Given the description of an element on the screen output the (x, y) to click on. 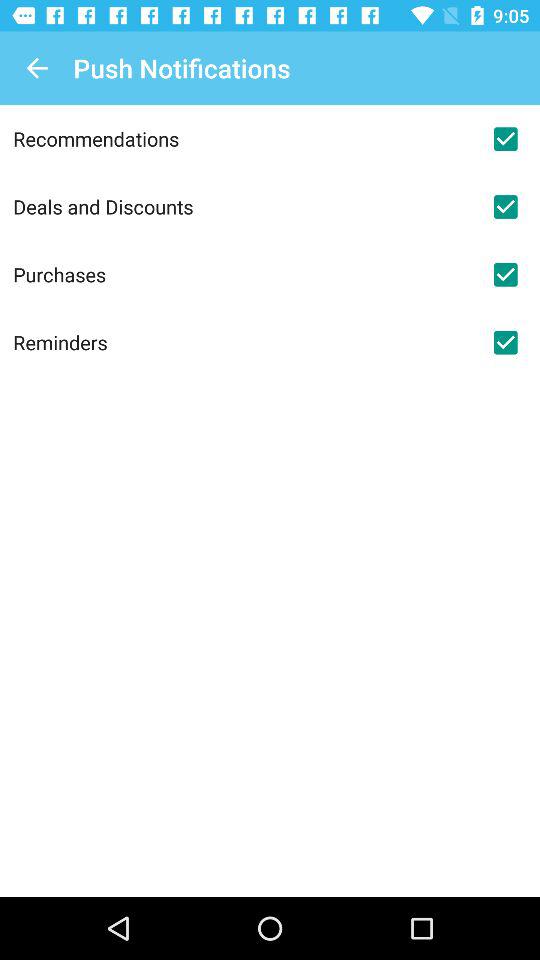
check deals and discounts (505, 207)
